Given the description of an element on the screen output the (x, y) to click on. 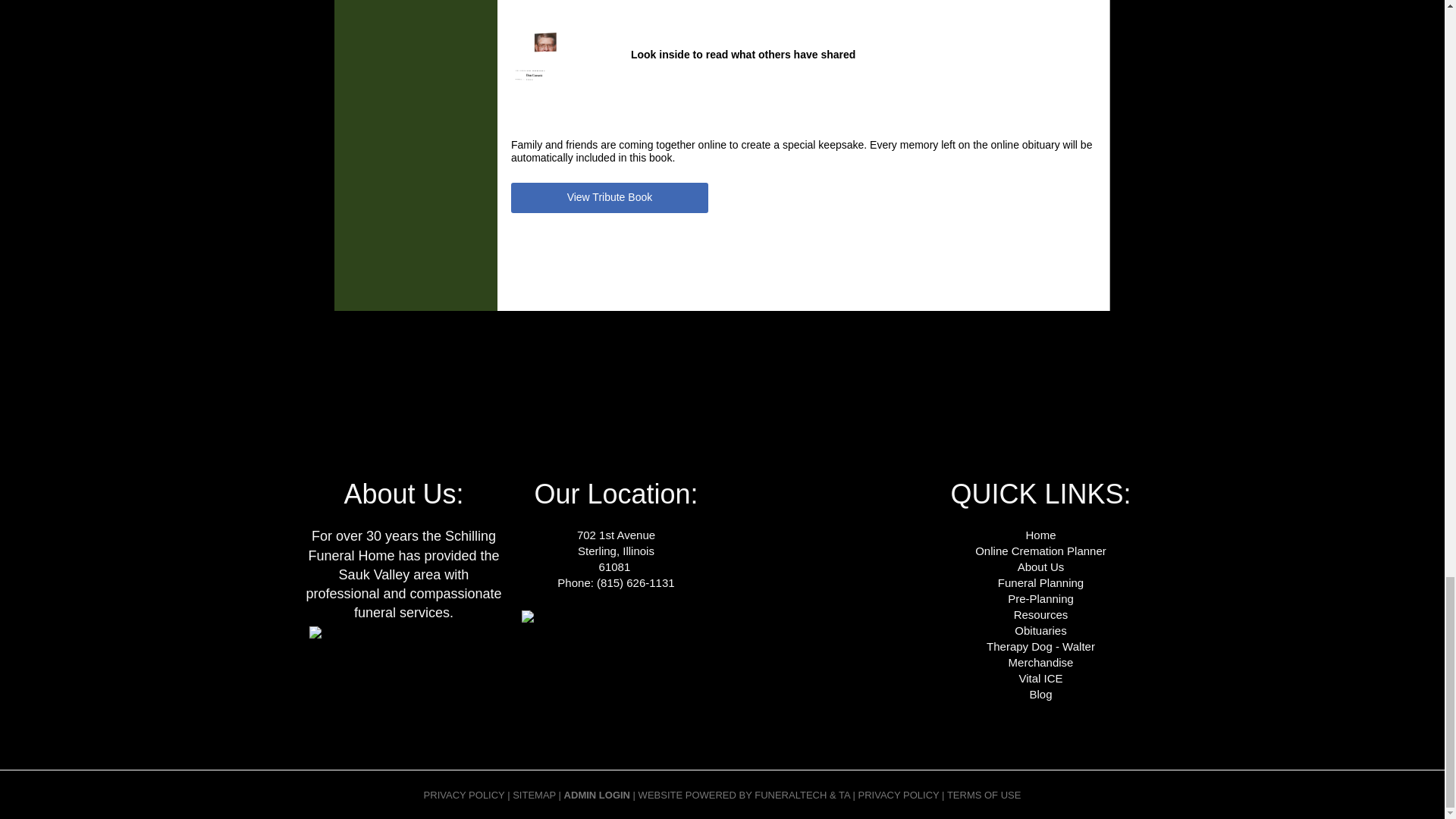
Resources (1040, 614)
Funeral Planning (1040, 582)
Online Cremation Planner (1040, 550)
Therapy Dog - Walter (1040, 645)
Obituaries (1039, 630)
Pre-Planning (1040, 598)
About Us (1040, 566)
